Given the description of an element on the screen output the (x, y) to click on. 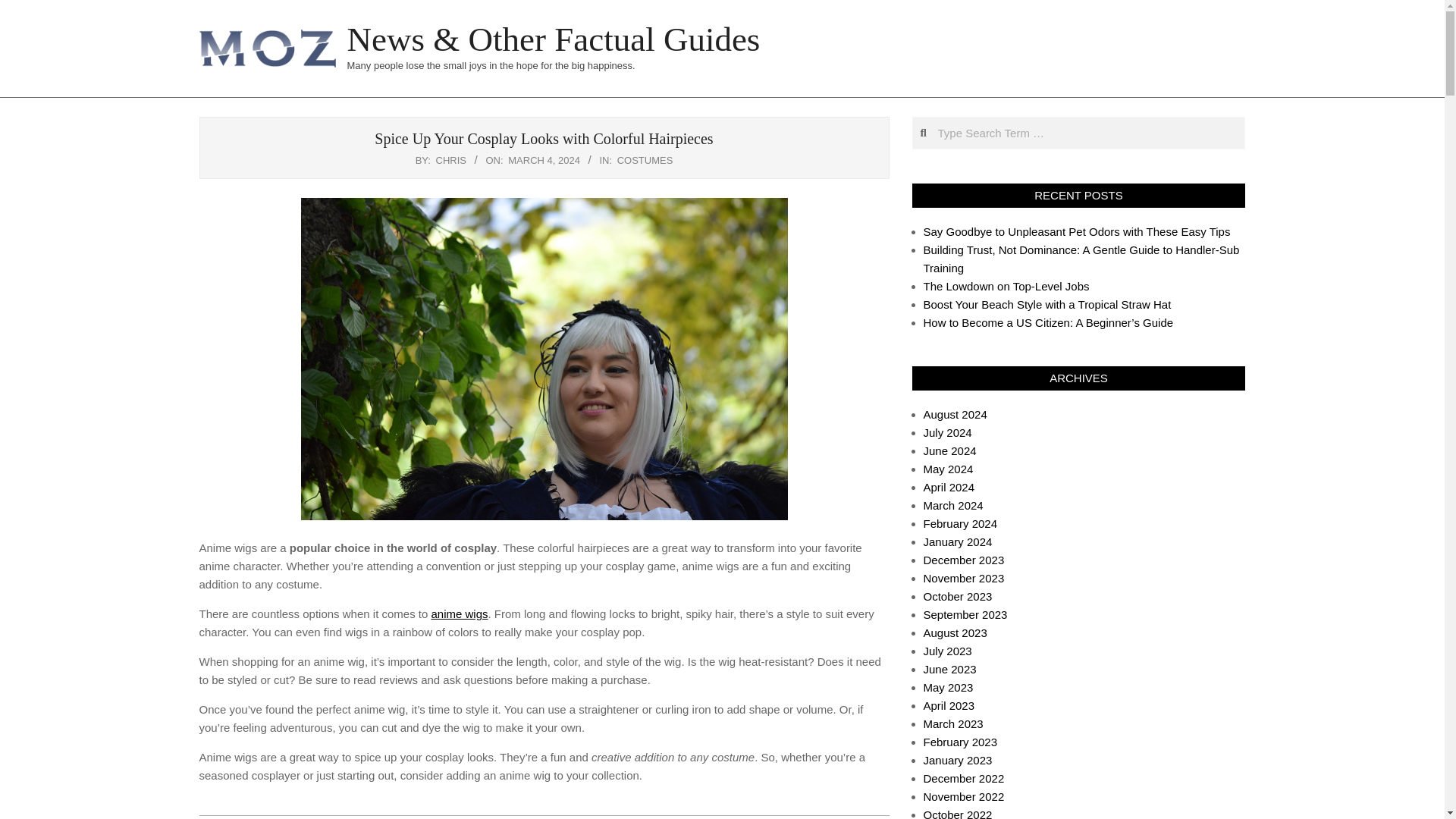
Posts by Chris (450, 160)
Boost Your Beach Style with a Tropical Straw Hat (1047, 304)
July 2023 (947, 650)
anime wigs (458, 613)
January 2024 (957, 541)
COSTUMES (644, 160)
September 2023 (965, 614)
August 2024 (955, 413)
May 2023 (948, 686)
